Given the description of an element on the screen output the (x, y) to click on. 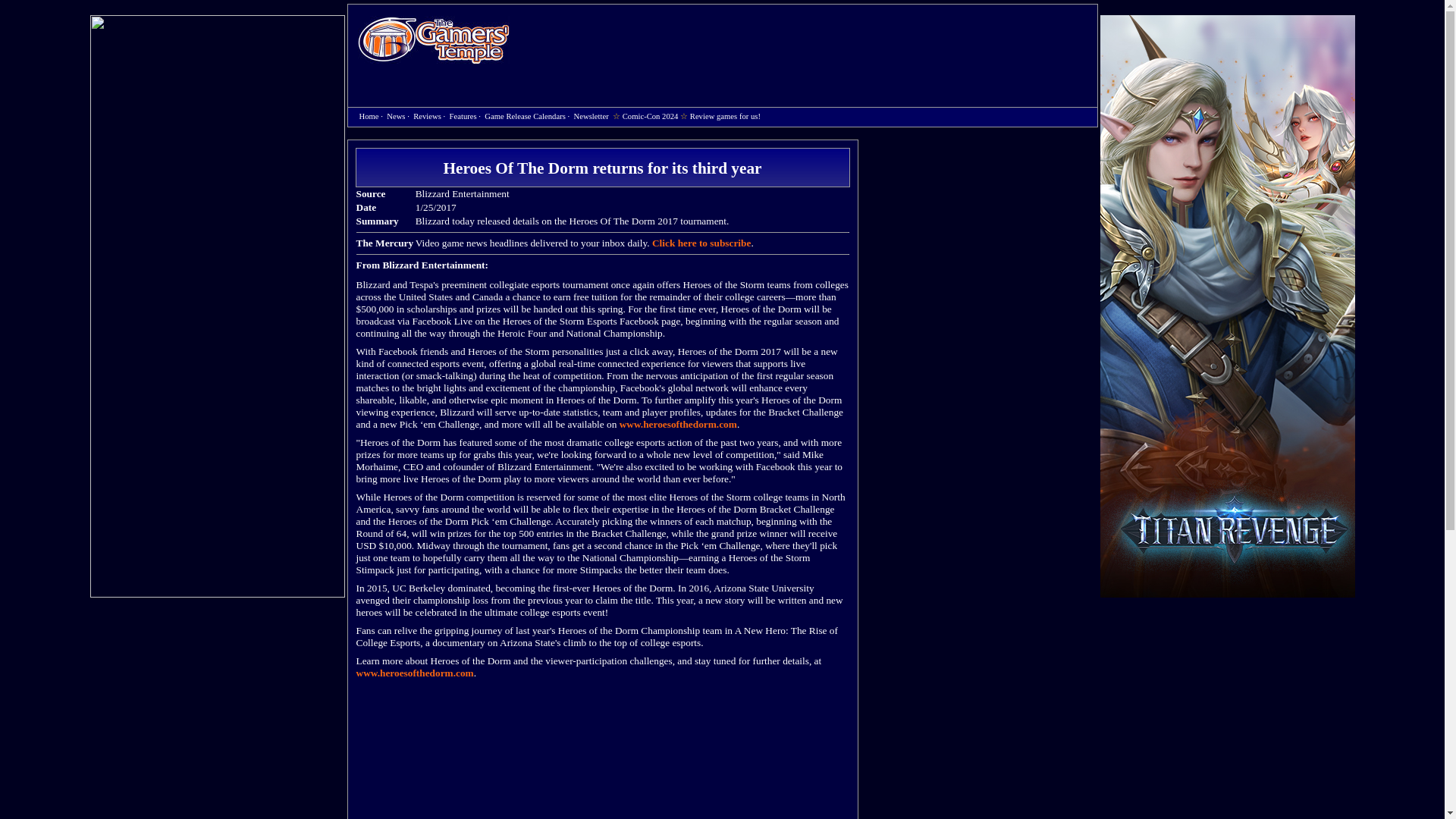
Reviews (427, 116)
Features (463, 116)
Advertisement (811, 42)
Advertisement (983, 747)
Home (368, 116)
News (395, 116)
Comic-Con 2024 (650, 116)
www.heroesofthedorm.com (678, 423)
Game Release Calendars (525, 116)
Newsletter (590, 116)
Click here to subscribe (701, 242)
Review games for us! (725, 116)
Home (433, 39)
www.heroesofthedorm.com (415, 672)
